Given the description of an element on the screen output the (x, y) to click on. 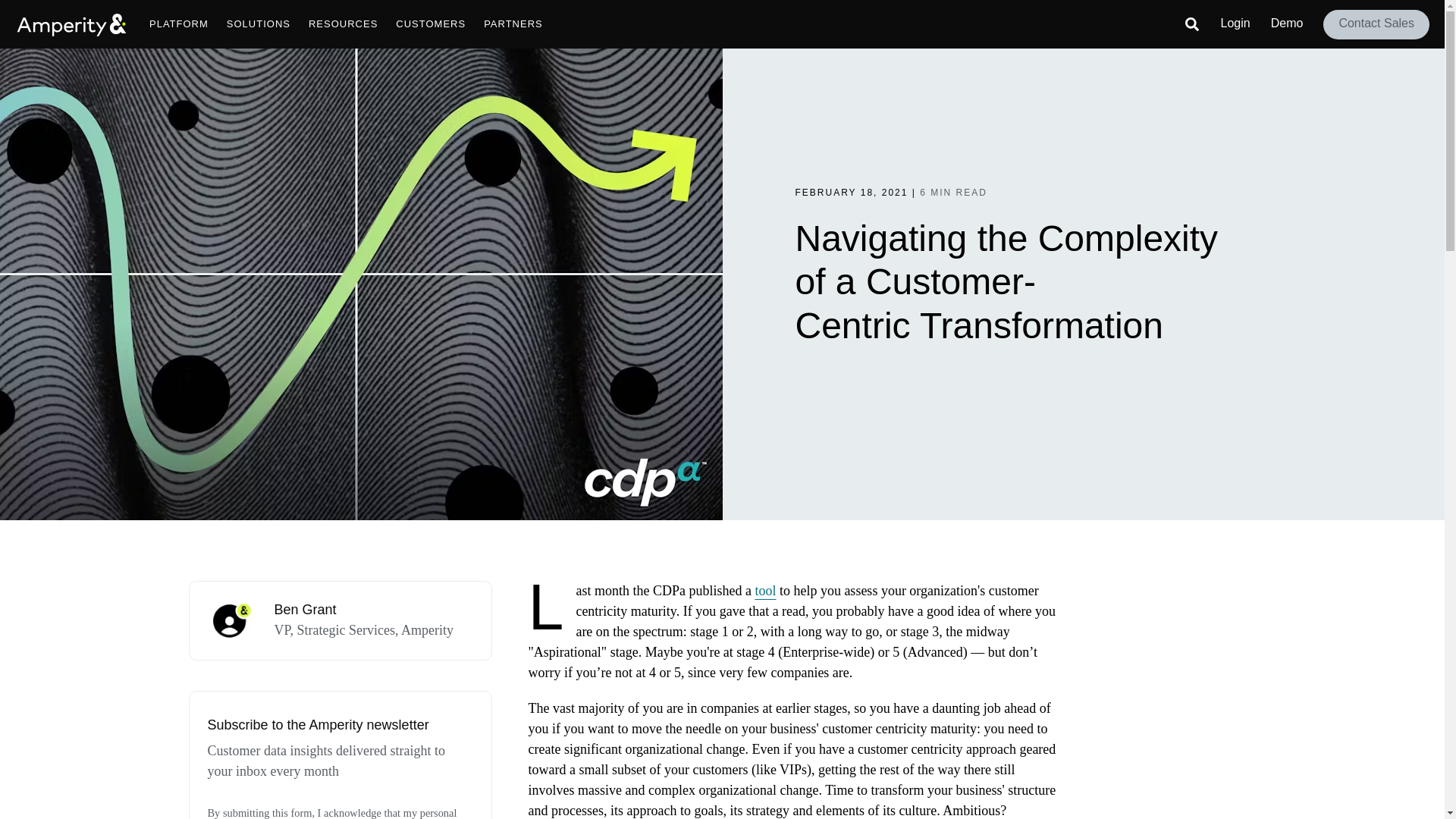
SOLUTIONS (257, 24)
CUSTOMERS (430, 24)
PLATFORM (177, 24)
PARTNERS (512, 24)
RESOURCES (343, 24)
